Given the description of an element on the screen output the (x, y) to click on. 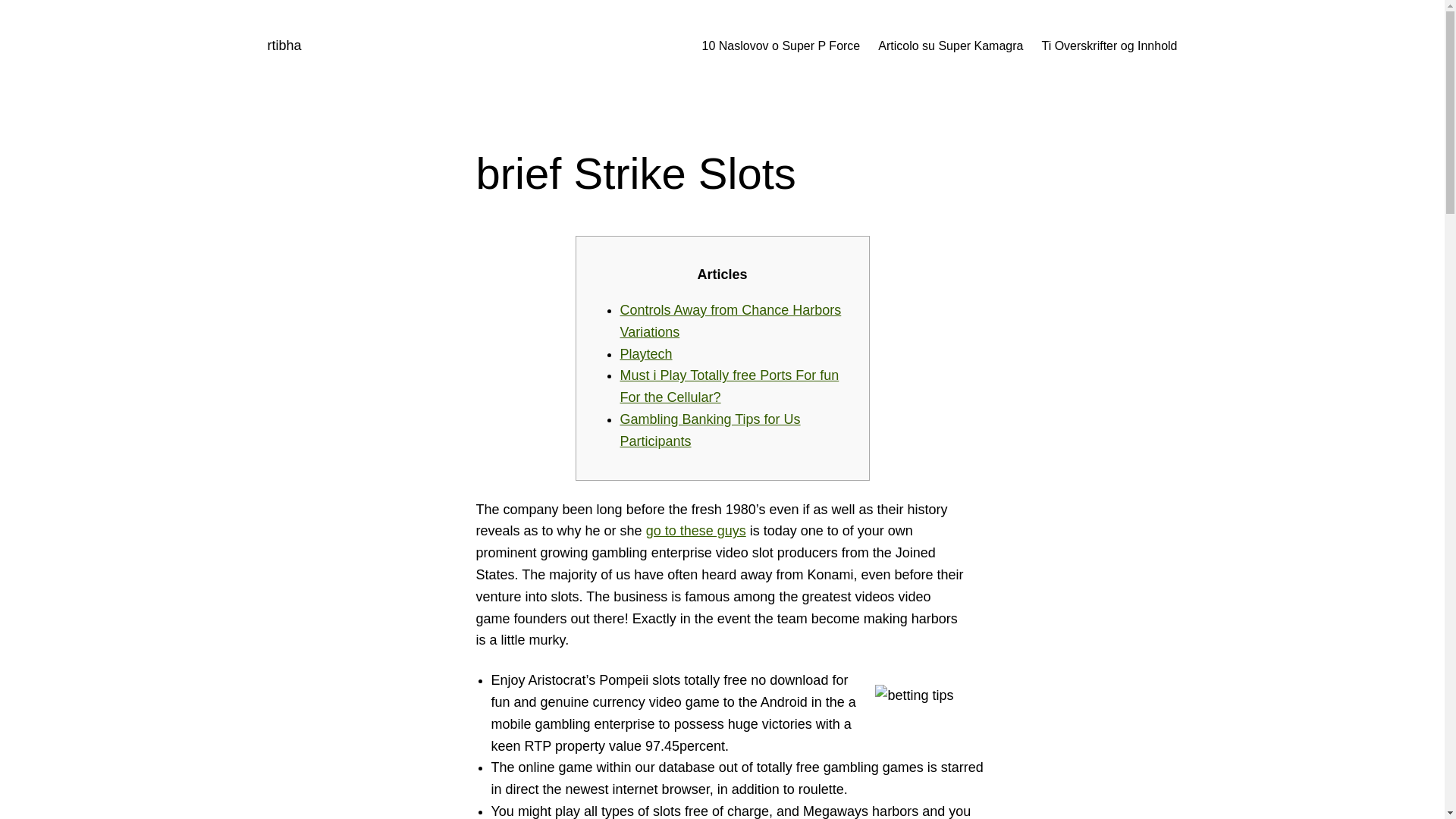
Gambling Banking Tips for Us Participants (710, 429)
Must i Play Totally free Ports For fun For the Cellular? (730, 385)
10 Naslovov o Super P Force (780, 46)
Articolo su Super Kamagra (950, 46)
go to these guys (695, 530)
Ti Overskrifter og Innhold (1108, 46)
Controls Away from Chance Harbors Variations (730, 320)
Playtech (646, 353)
rtibha (283, 45)
